Given the description of an element on the screen output the (x, y) to click on. 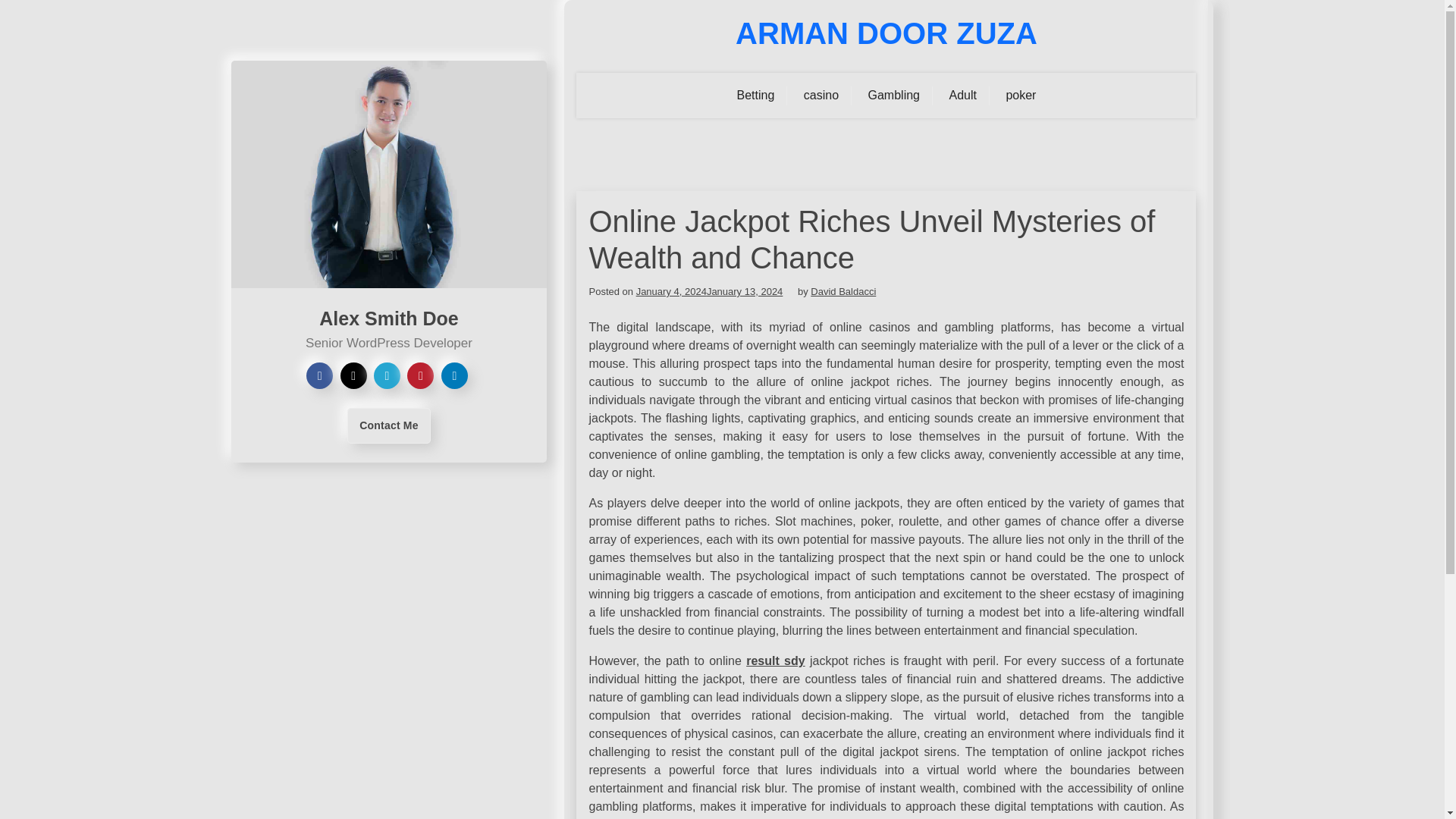
poker (1020, 95)
Betting (755, 95)
result sdy (775, 660)
Gambling (894, 95)
casino (821, 95)
David Baldacci (843, 291)
Contact Me (388, 425)
ARMAN DOOR ZUZA (885, 33)
Adult (962, 95)
January 4, 2024January 13, 2024 (709, 291)
